Given the description of an element on the screen output the (x, y) to click on. 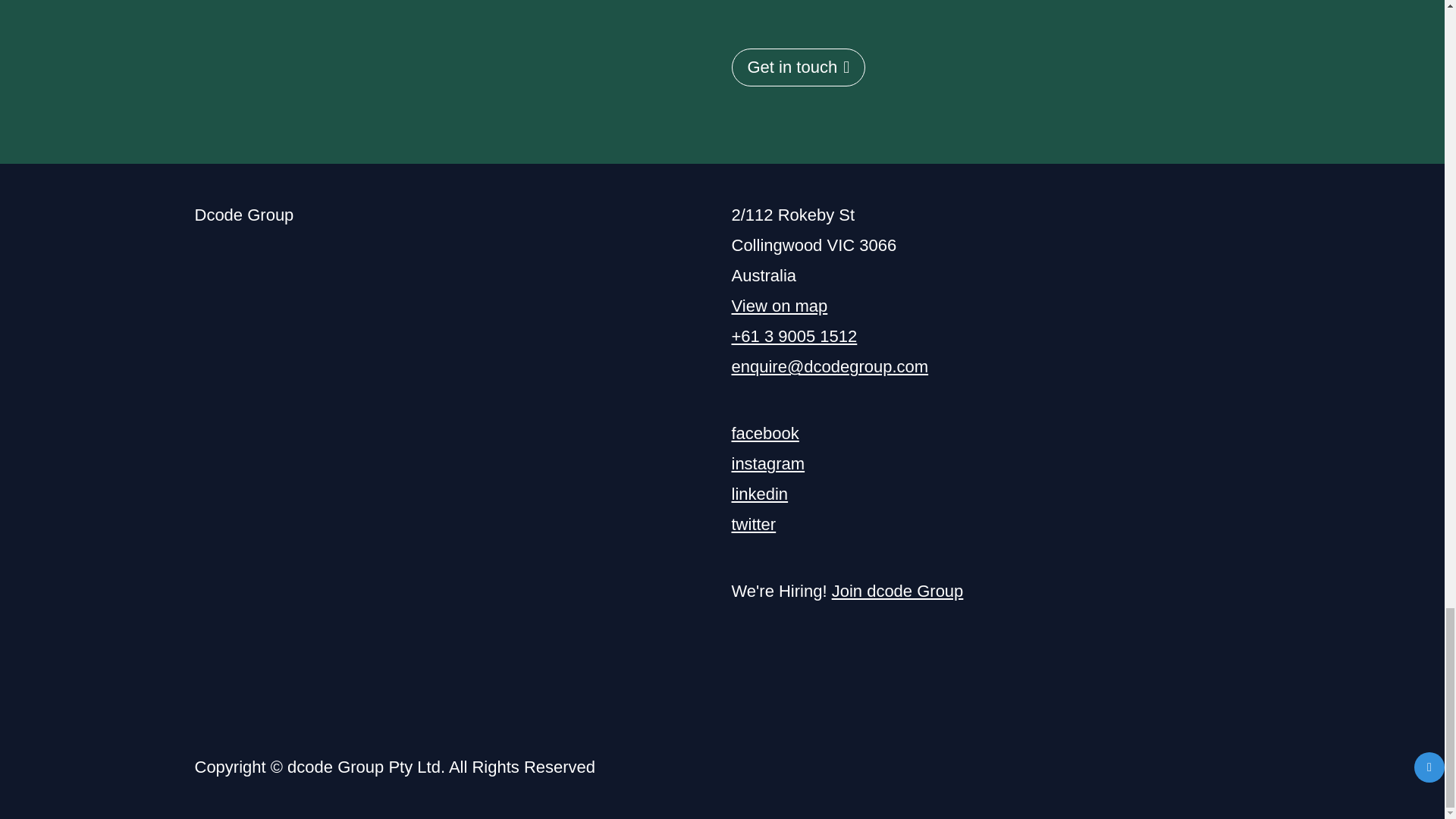
linkedin (758, 493)
Join dcode Group (897, 590)
Get in touch (797, 67)
instagram (767, 463)
View on map (778, 305)
facebook (763, 433)
twitter (753, 524)
